Given the description of an element on the screen output the (x, y) to click on. 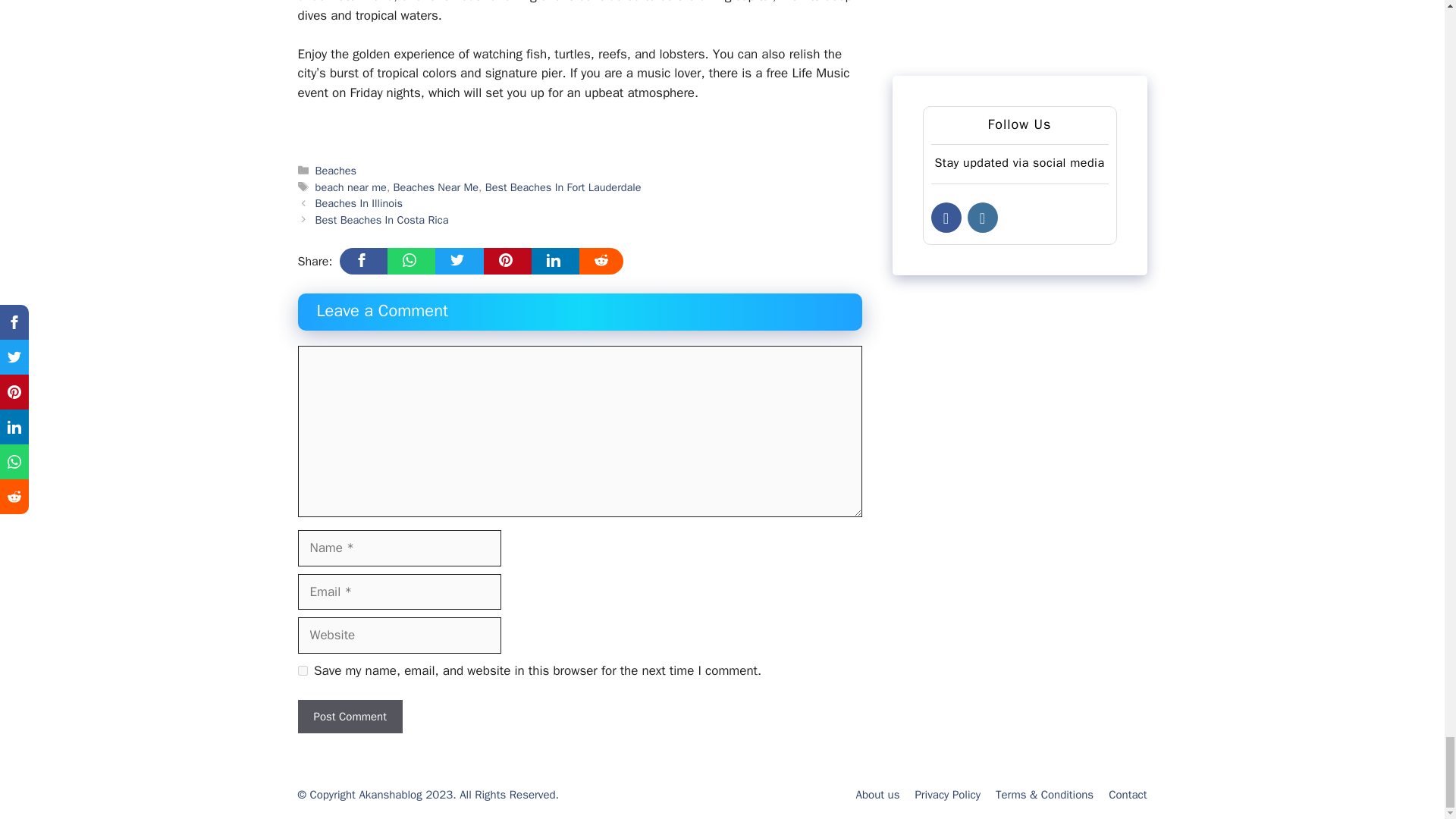
Post Comment (349, 716)
yes (302, 670)
